Given the description of an element on the screen output the (x, y) to click on. 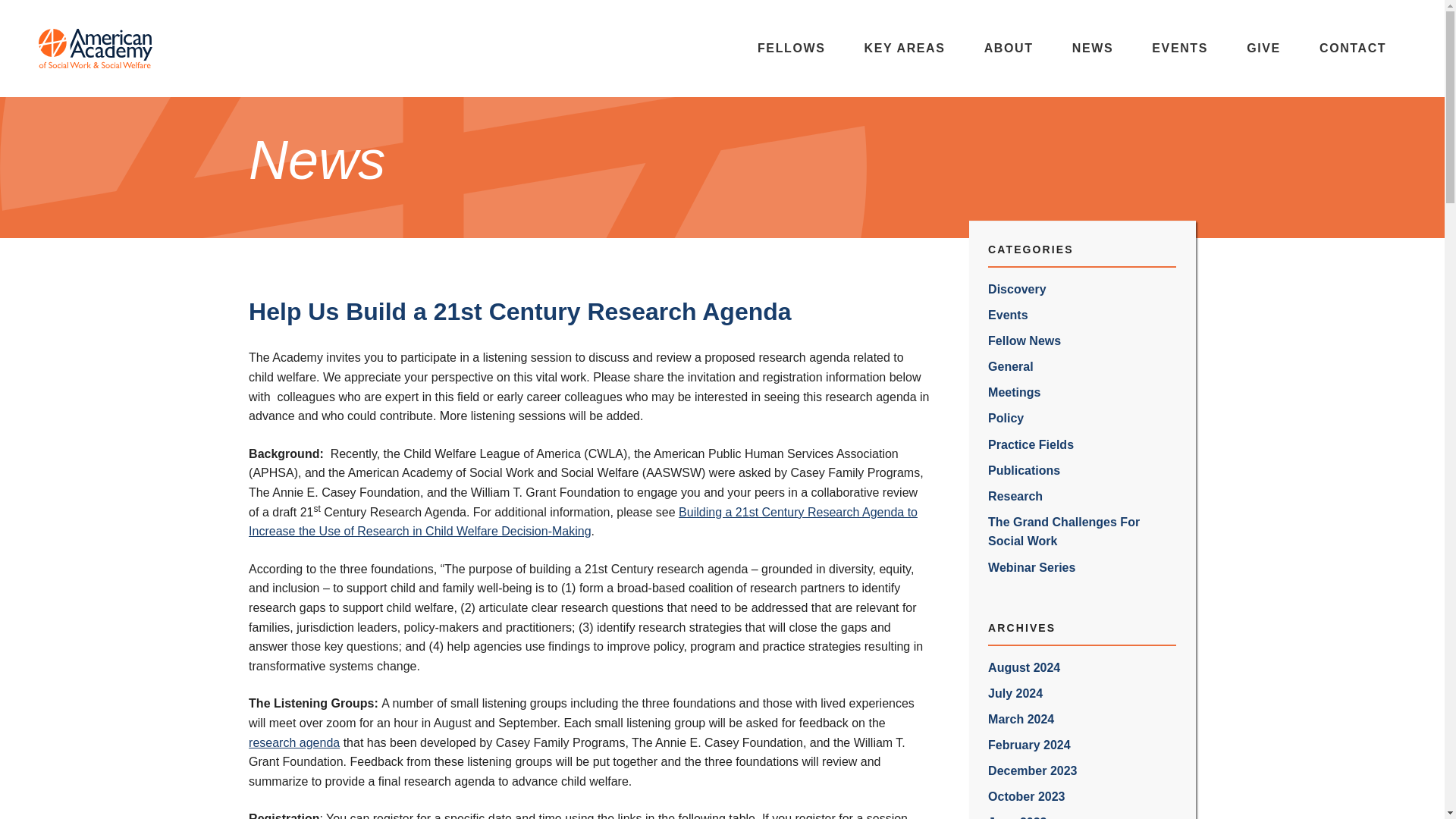
KEY AREAS (903, 48)
research agenda (293, 741)
CONTACT (1352, 48)
Fellow News (1082, 340)
EVENTS (1179, 48)
Discovery (1082, 289)
FELLOWS (791, 48)
Meetings (1082, 392)
General (1082, 366)
